Given the description of an element on the screen output the (x, y) to click on. 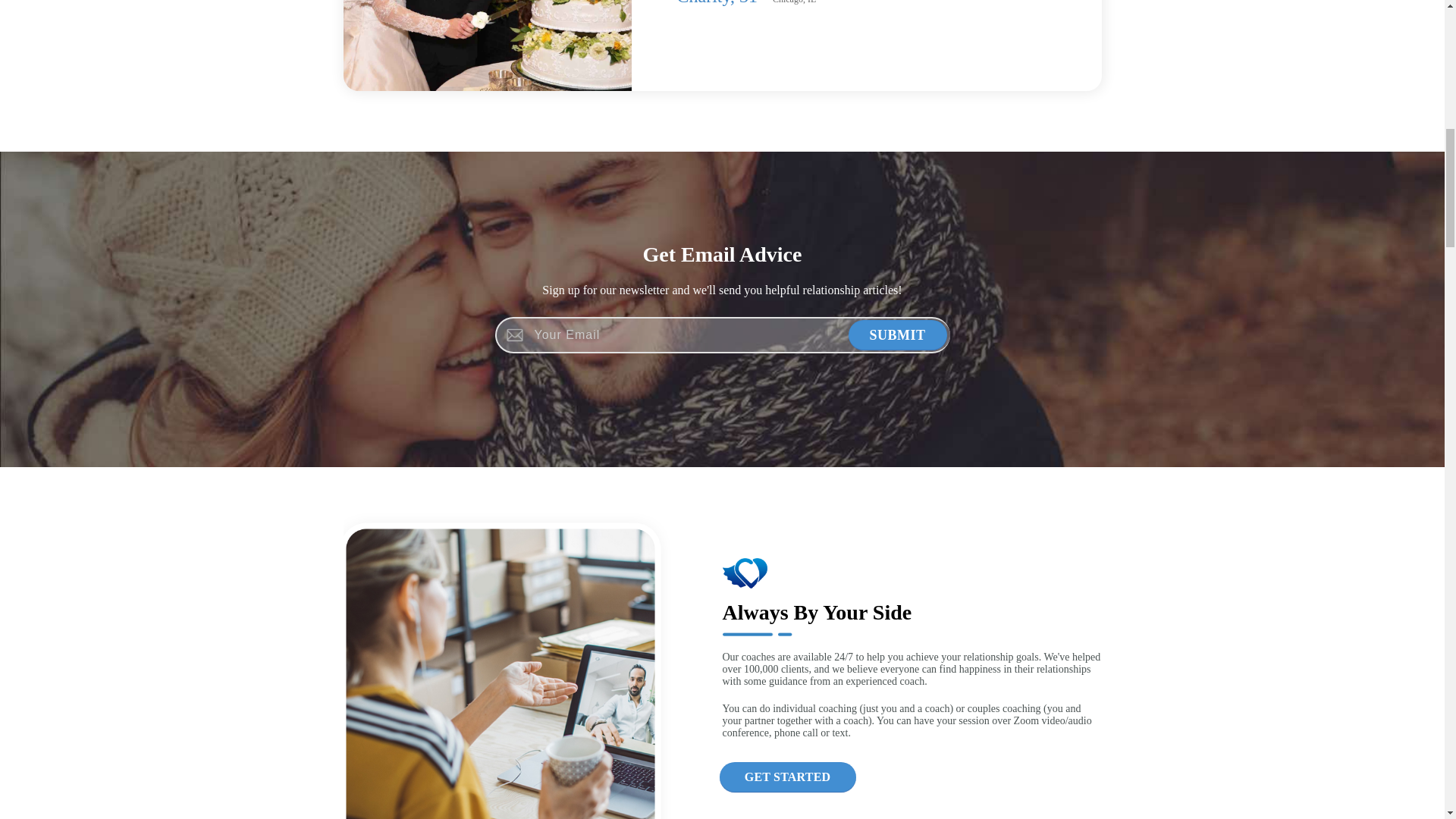
SUBMIT (896, 335)
GET STARTED (787, 777)
